Given the description of an element on the screen output the (x, y) to click on. 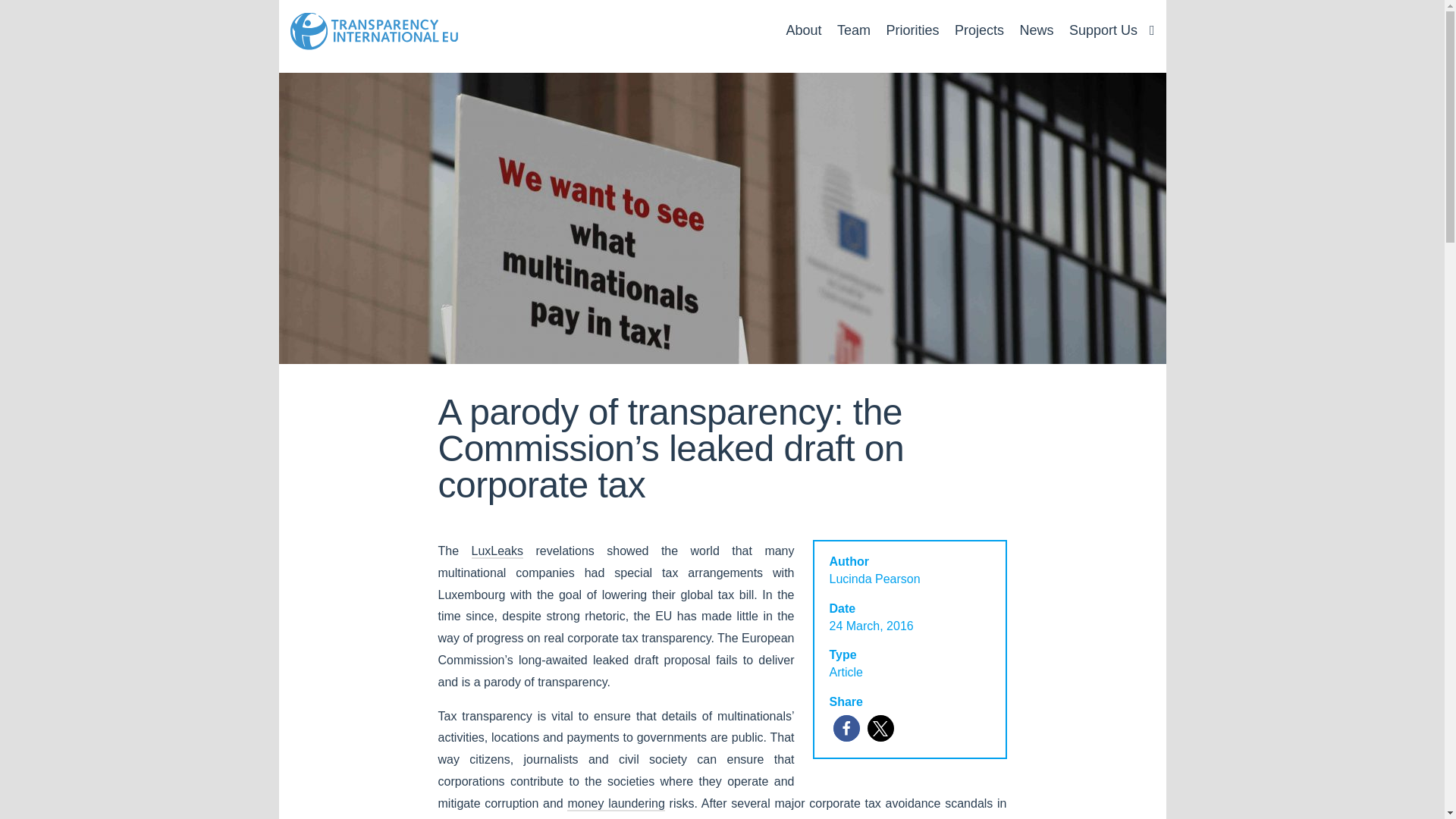
News (1035, 29)
Priorities (912, 29)
Lucinda Pearson (874, 578)
Team (853, 29)
About (803, 29)
Support Us (1102, 29)
Projects (979, 29)
LuxLeaks (497, 551)
money laundering (615, 803)
Share on X (880, 728)
Article (846, 671)
Share on Facebook (845, 728)
